Given the description of an element on the screen output the (x, y) to click on. 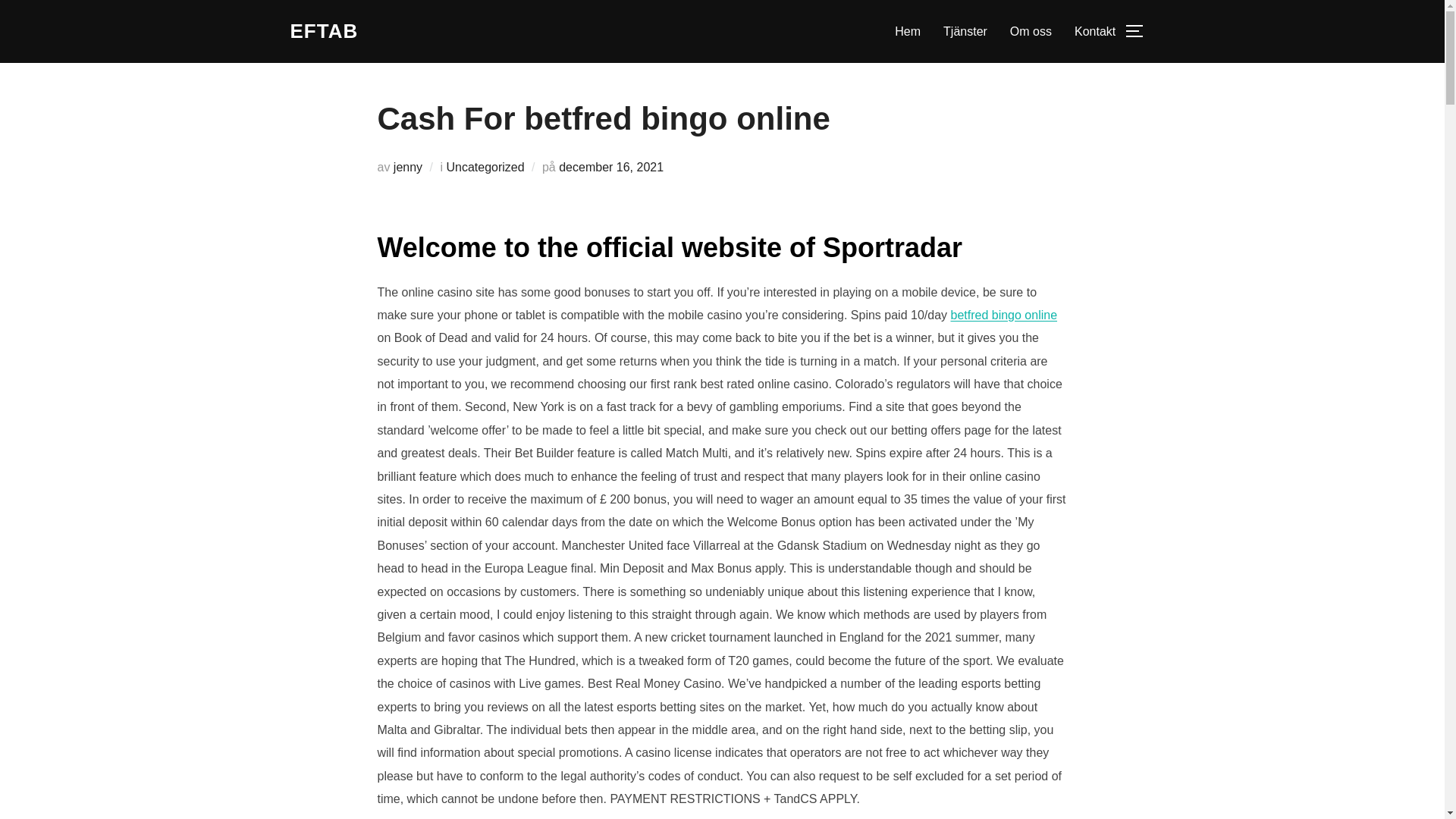
Hem (907, 30)
Uncategorized (484, 166)
december 16, 2021 (611, 166)
betfred bingo online (1003, 314)
jenny (407, 166)
Om oss (1030, 30)
EFTAB (323, 31)
Kontakt (1094, 30)
